Given the description of an element on the screen output the (x, y) to click on. 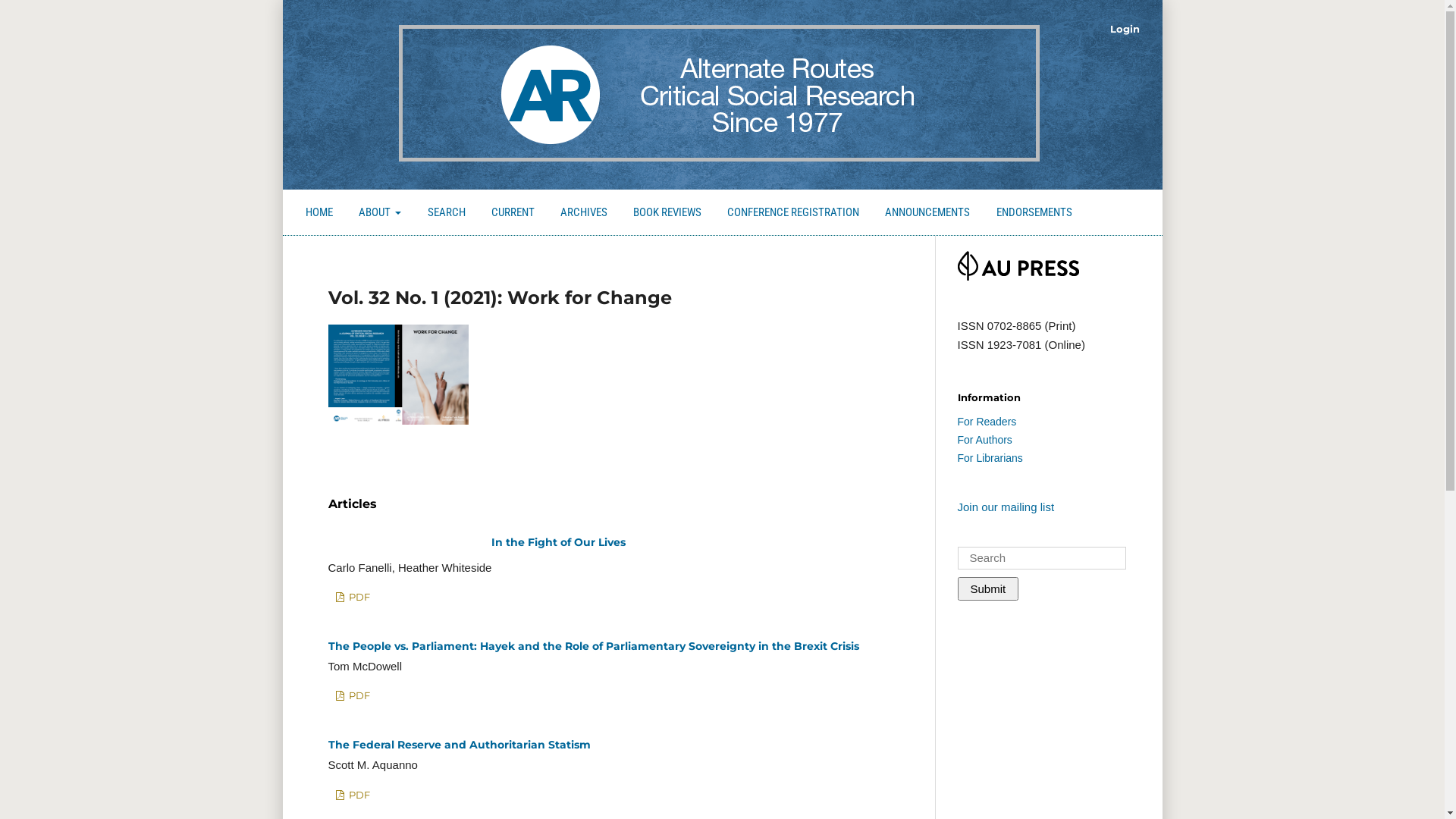
ANNOUNCEMENTS Element type: text (927, 214)
Submit Element type: text (987, 588)
PDF Element type: text (351, 596)
The Federal Reserve and Authoritarian Statism Element type: text (458, 744)
CONFERENCE REGISTRATION Element type: text (793, 214)
For Readers Element type: text (986, 421)
Login Element type: text (1124, 28)
visit AU Press website Element type: hover (1017, 275)
PDF Element type: text (351, 695)
CURRENT Element type: text (512, 214)
PDF Element type: text (351, 793)
BOOK REVIEWS Element type: text (667, 214)
SEARCH Element type: text (445, 214)
For Authors Element type: text (984, 439)
Join our mailing list Element type: text (1005, 506)
In the Fight of Our Lives Element type: text (771, 545)
ABOUT Element type: text (379, 214)
ENDORSEMENTS Element type: text (1033, 214)
ARCHIVES Element type: text (583, 214)
For Librarians Element type: text (989, 457)
HOME Element type: text (318, 214)
